Given the description of an element on the screen output the (x, y) to click on. 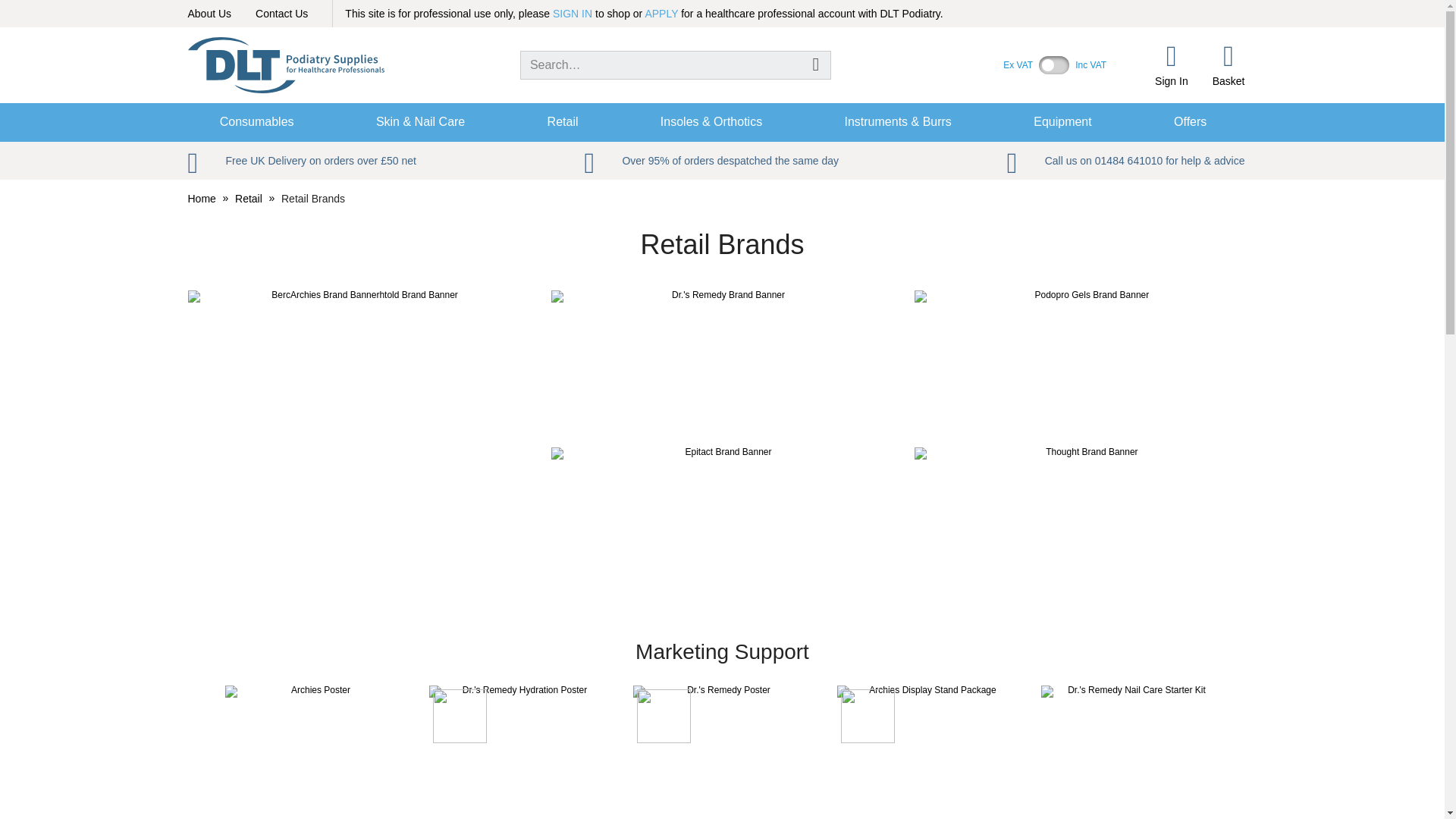
Contact Us (281, 13)
SIGN IN (572, 13)
Search (815, 64)
DLT Podiatry (285, 65)
DLT Podiatry (285, 65)
Search (815, 64)
Consumables (256, 122)
APPLY (661, 13)
About Us (209, 13)
